Given the description of an element on the screen output the (x, y) to click on. 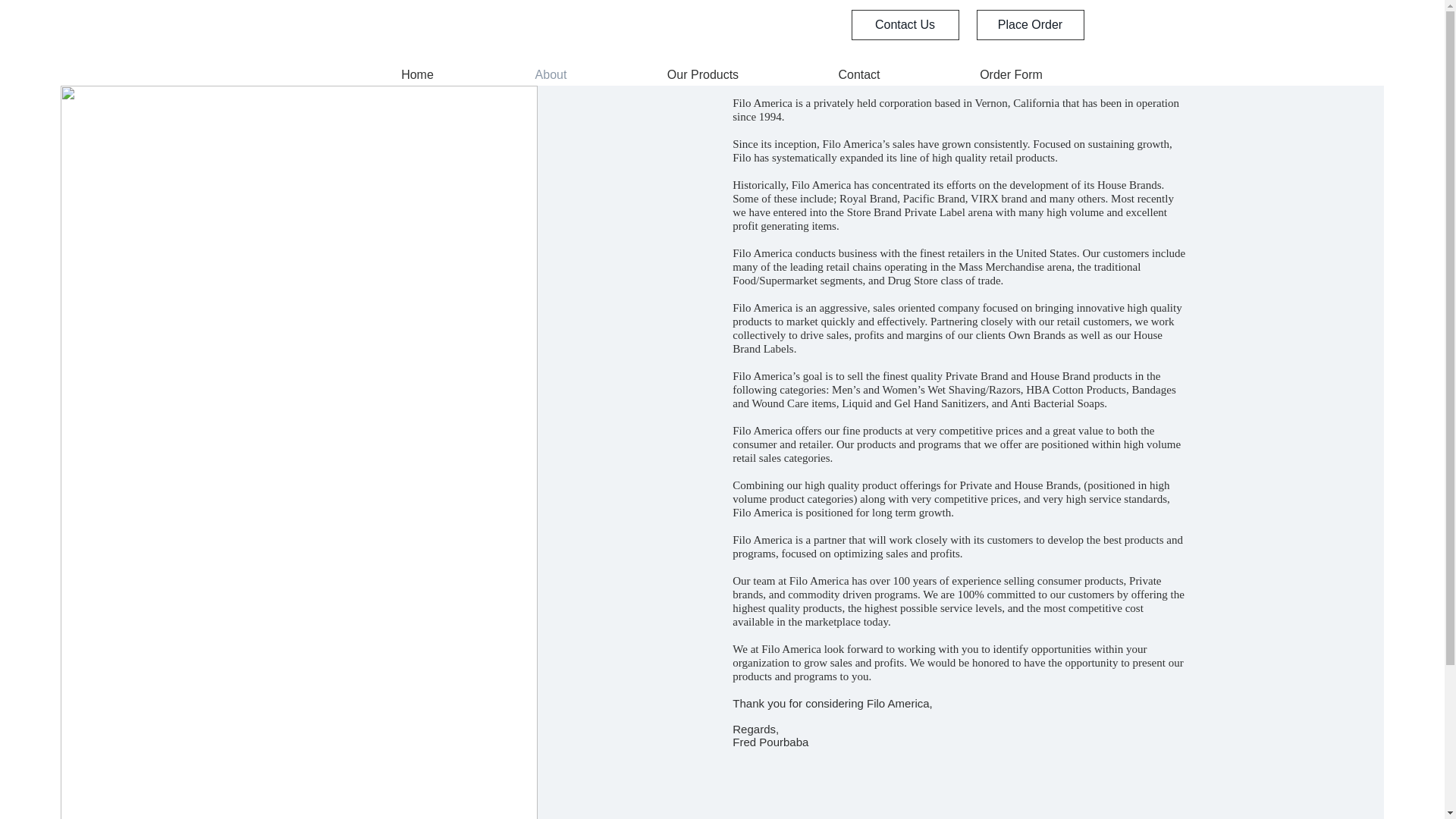
Our Products (702, 74)
Order Form (1011, 74)
Contact (859, 74)
Contact Us (904, 24)
Home (416, 74)
Place Order (1030, 24)
About (550, 74)
